Given the description of an element on the screen output the (x, y) to click on. 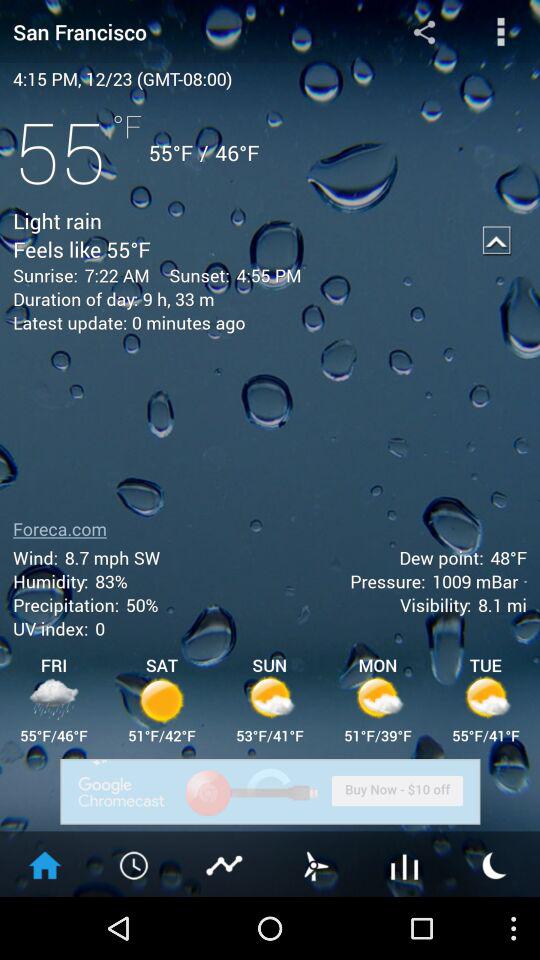
windspeed information (315, 864)
